Given the description of an element on the screen output the (x, y) to click on. 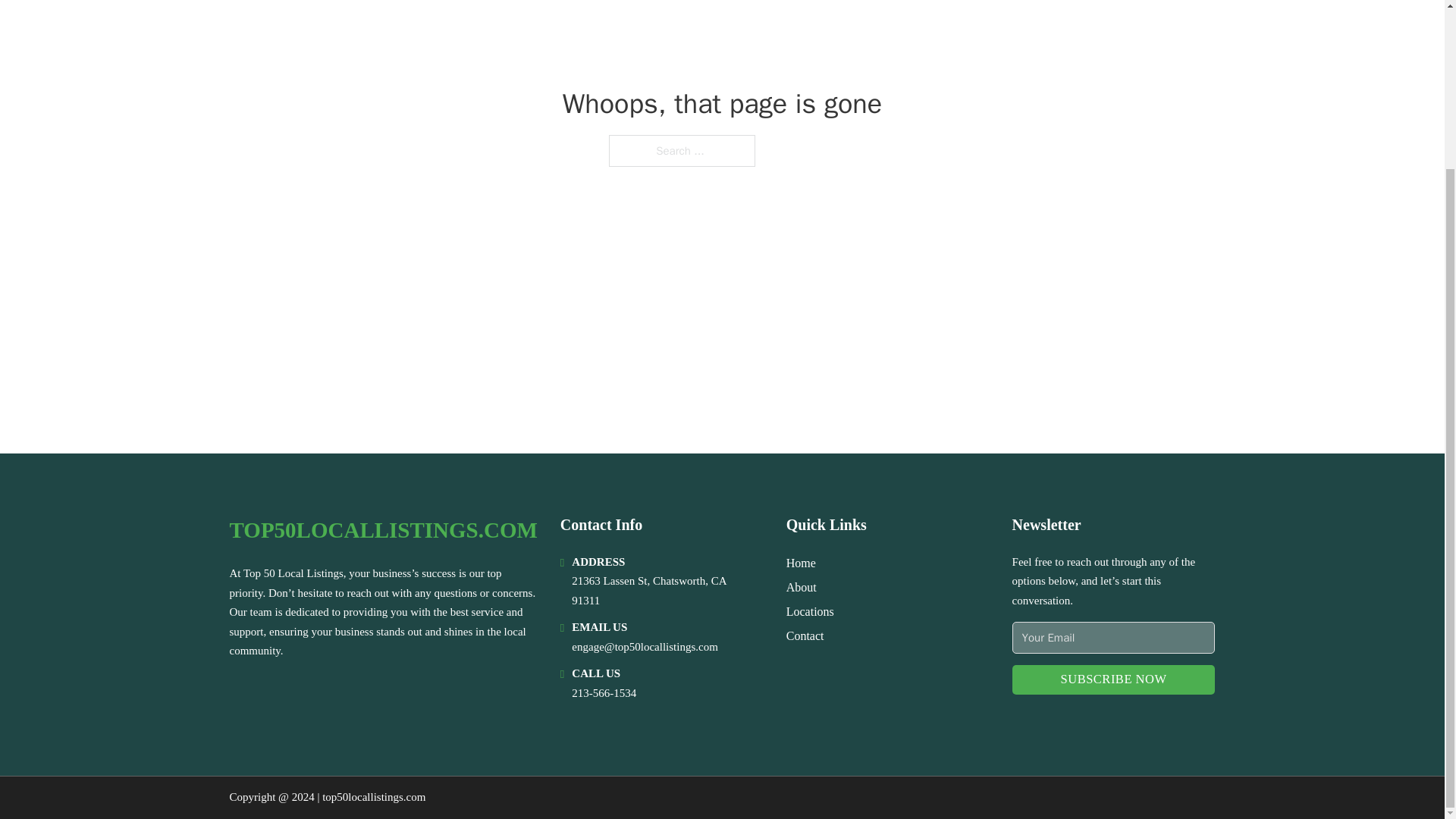
213-566-1534 (604, 693)
TOP50LOCALLISTINGS.COM (382, 529)
Locations (810, 611)
About (801, 587)
Contact (805, 635)
Home (800, 562)
SUBSCRIBE NOW (1113, 679)
